Given the description of an element on the screen output the (x, y) to click on. 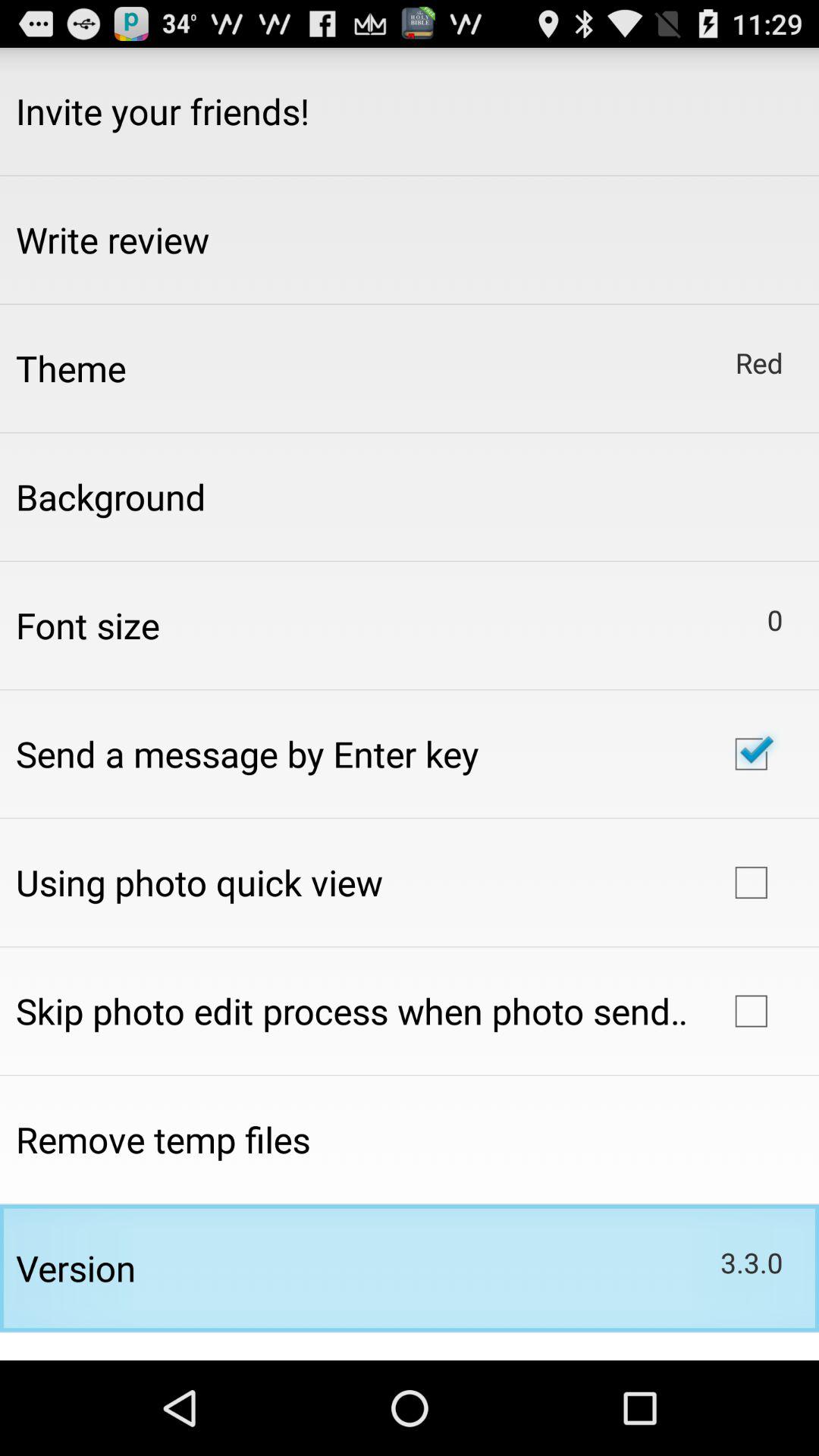
turn on the item above the send a message (87, 625)
